Given the description of an element on the screen output the (x, y) to click on. 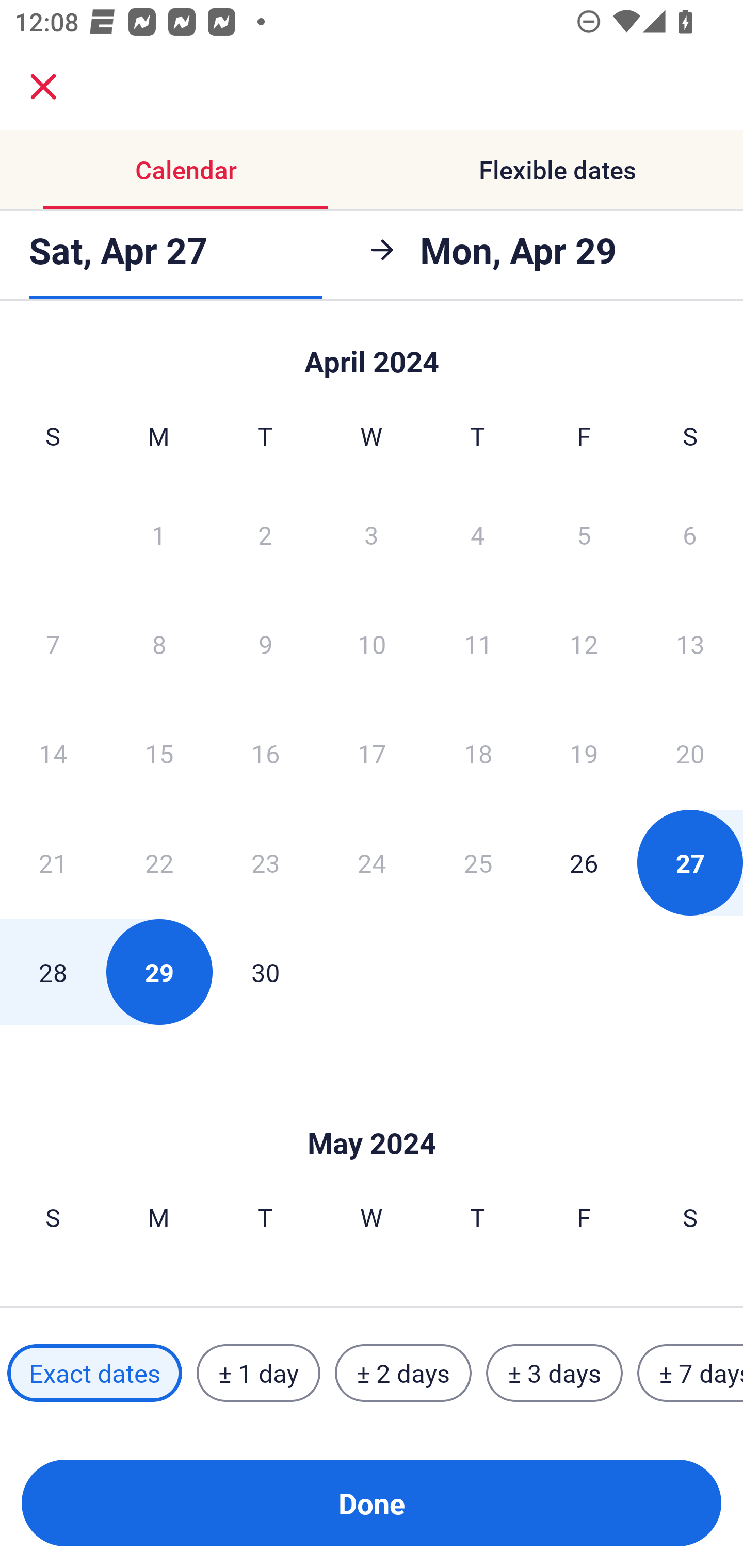
close. (43, 86)
Flexible dates (557, 170)
Skip to Done (371, 352)
1 Monday, April 1, 2024 (158, 534)
2 Tuesday, April 2, 2024 (264, 534)
3 Wednesday, April 3, 2024 (371, 534)
4 Thursday, April 4, 2024 (477, 534)
5 Friday, April 5, 2024 (583, 534)
6 Saturday, April 6, 2024 (689, 534)
7 Sunday, April 7, 2024 (53, 643)
8 Monday, April 8, 2024 (159, 643)
9 Tuesday, April 9, 2024 (265, 643)
10 Wednesday, April 10, 2024 (371, 643)
11 Thursday, April 11, 2024 (477, 643)
12 Friday, April 12, 2024 (584, 643)
13 Saturday, April 13, 2024 (690, 643)
14 Sunday, April 14, 2024 (53, 752)
15 Monday, April 15, 2024 (159, 752)
16 Tuesday, April 16, 2024 (265, 752)
17 Wednesday, April 17, 2024 (371, 752)
18 Thursday, April 18, 2024 (477, 752)
19 Friday, April 19, 2024 (584, 752)
20 Saturday, April 20, 2024 (690, 752)
21 Sunday, April 21, 2024 (53, 862)
22 Monday, April 22, 2024 (159, 862)
23 Tuesday, April 23, 2024 (265, 862)
24 Wednesday, April 24, 2024 (371, 862)
25 Thursday, April 25, 2024 (477, 862)
26 Friday, April 26, 2024 (584, 862)
30 Tuesday, April 30, 2024 (265, 971)
Skip to Done (371, 1112)
Exact dates (94, 1372)
± 1 day (258, 1372)
± 2 days (403, 1372)
± 3 days (553, 1372)
± 7 days (690, 1372)
Done (371, 1502)
